Given the description of an element on the screen output the (x, y) to click on. 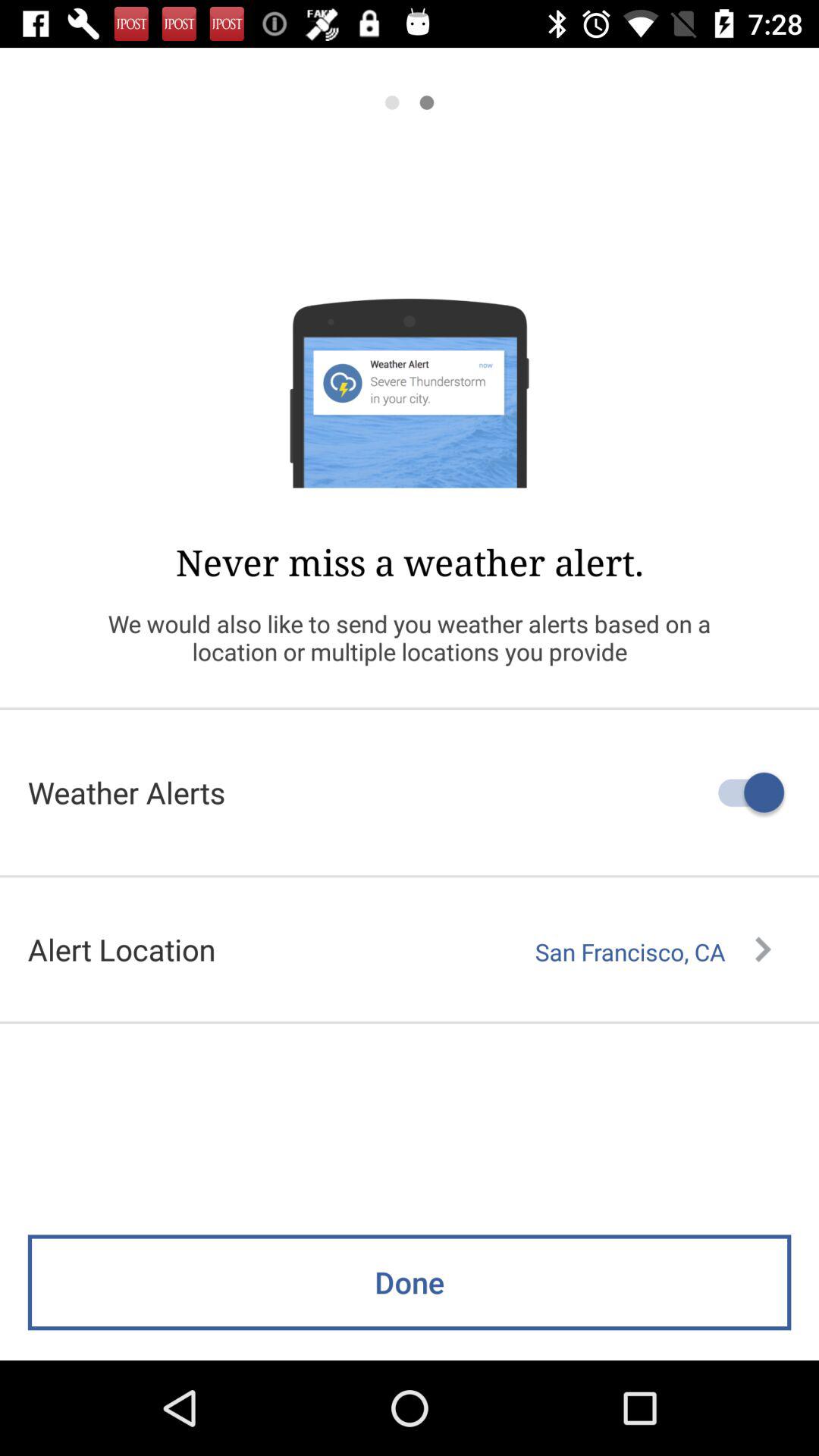
launch icon next to the alert location icon (653, 951)
